Given the description of an element on the screen output the (x, y) to click on. 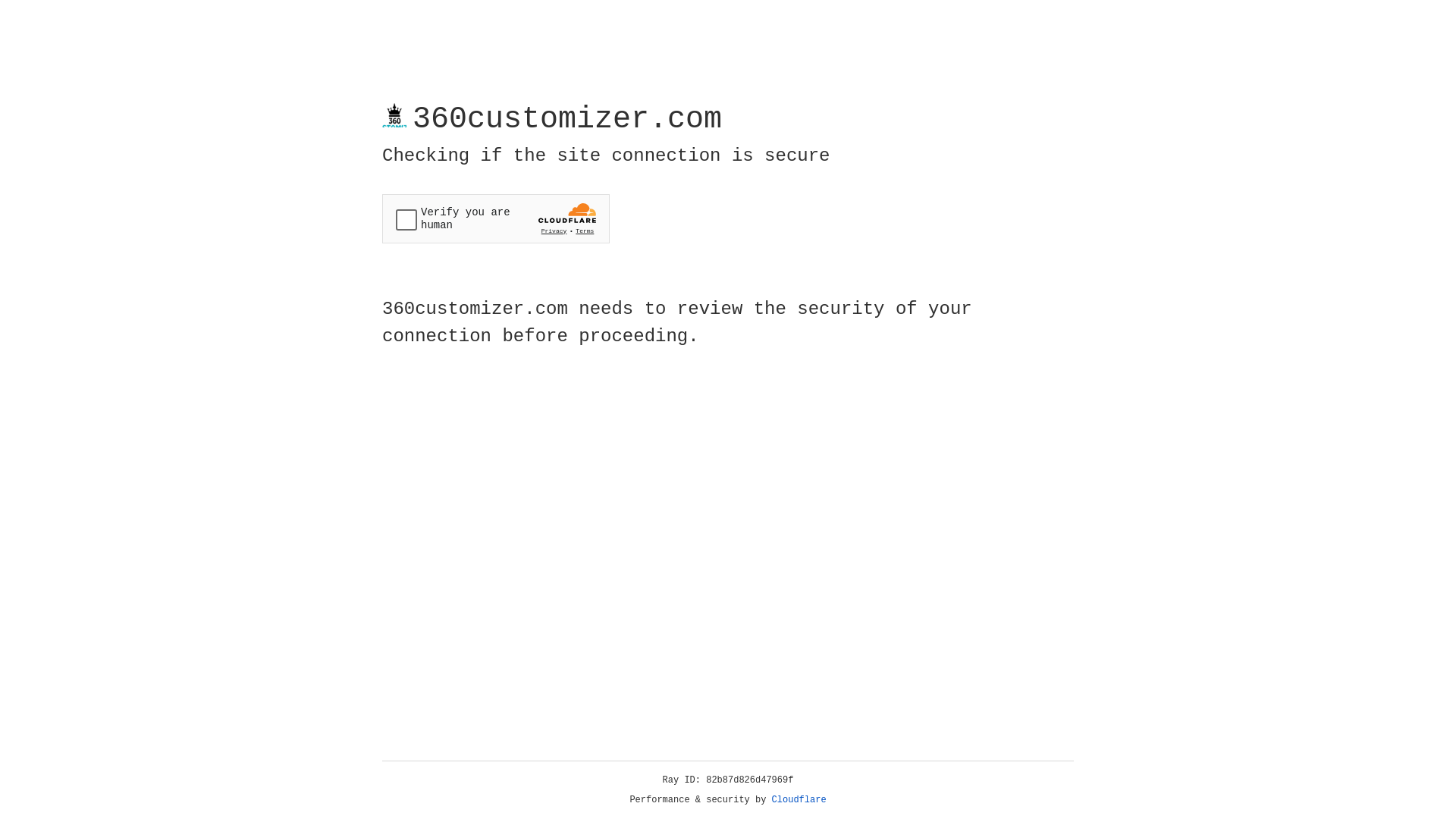
Cloudflare Element type: text (798, 799)
Widget containing a Cloudflare security challenge Element type: hover (495, 218)
